Given the description of an element on the screen output the (x, y) to click on. 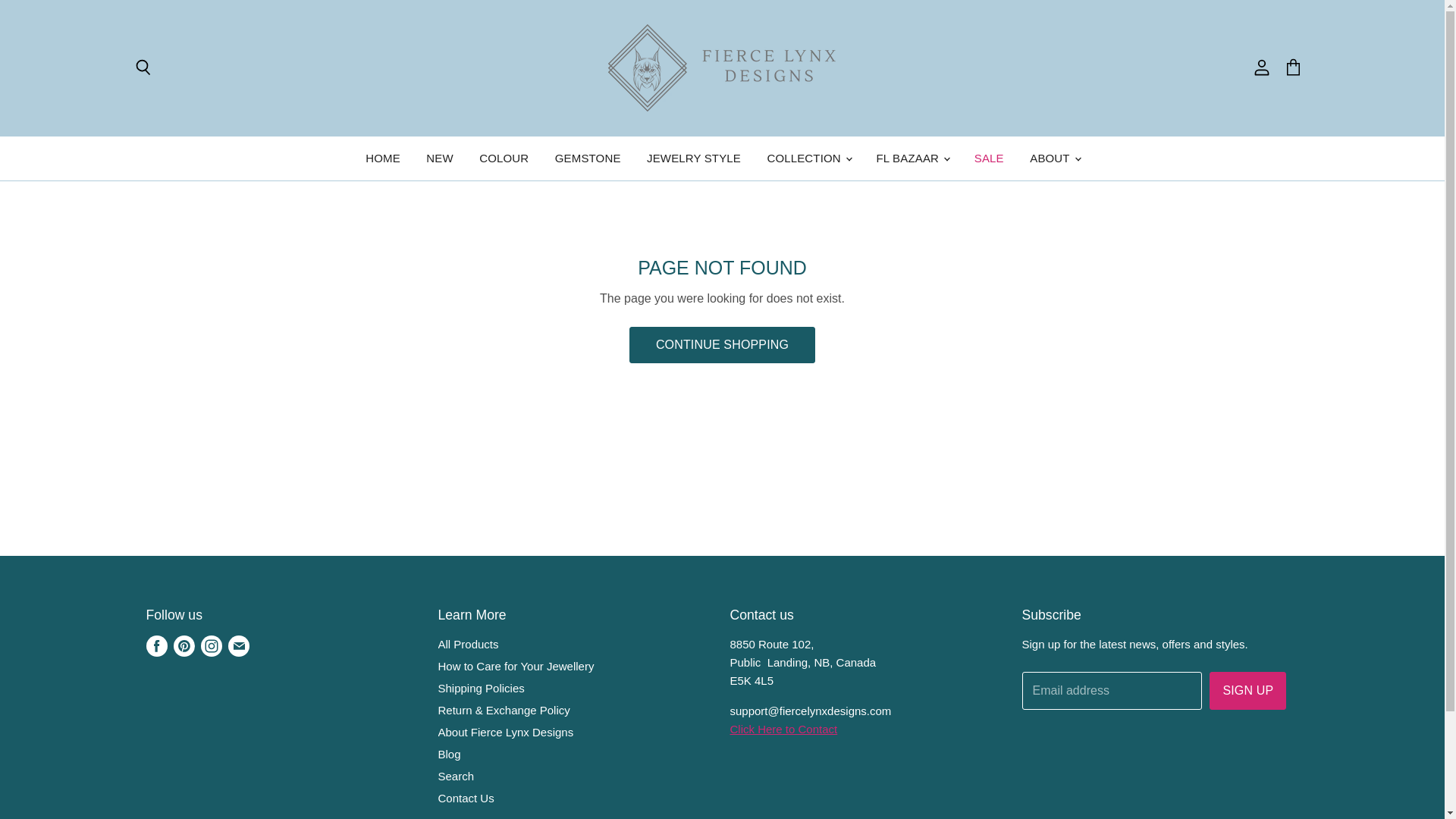
SALE (988, 158)
NEW (439, 158)
Search (141, 67)
FL BAZAAR (911, 158)
View account (1261, 67)
COLOUR (503, 158)
GEMSTONE (587, 158)
Pinterest (183, 646)
COLLECTION (808, 158)
Instagram (210, 646)
ABOUT (1053, 158)
Facebook (156, 646)
E-mail (237, 646)
JEWELRY STYLE (693, 158)
HOME (382, 158)
